Given the description of an element on the screen output the (x, y) to click on. 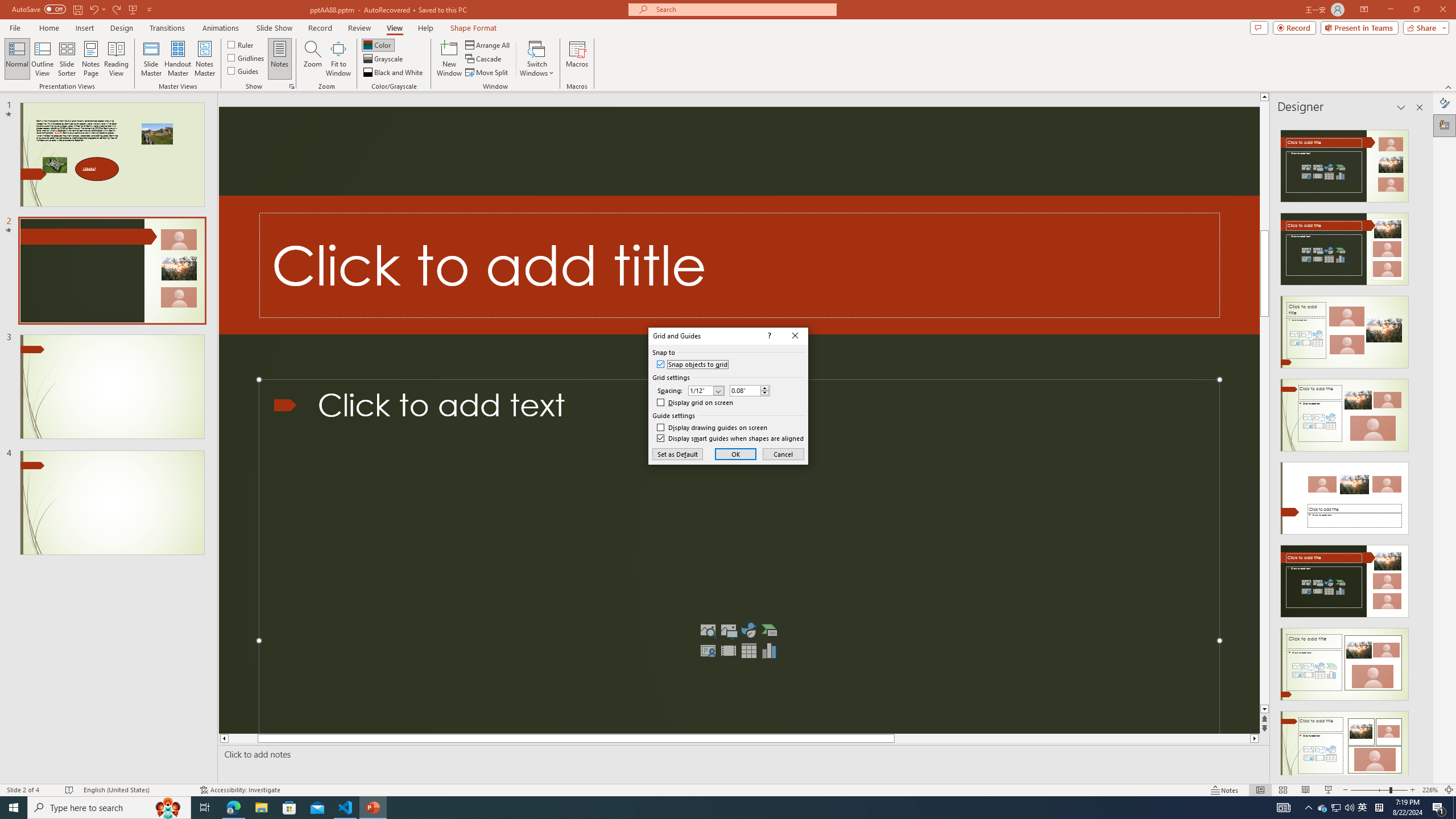
Grid Settings... (291, 85)
Insert Table (748, 650)
Context help (768, 335)
Arrange All (488, 44)
Insert a SmartArt Graphic (769, 629)
Snap objects to grid (692, 364)
